Given the description of an element on the screen output the (x, y) to click on. 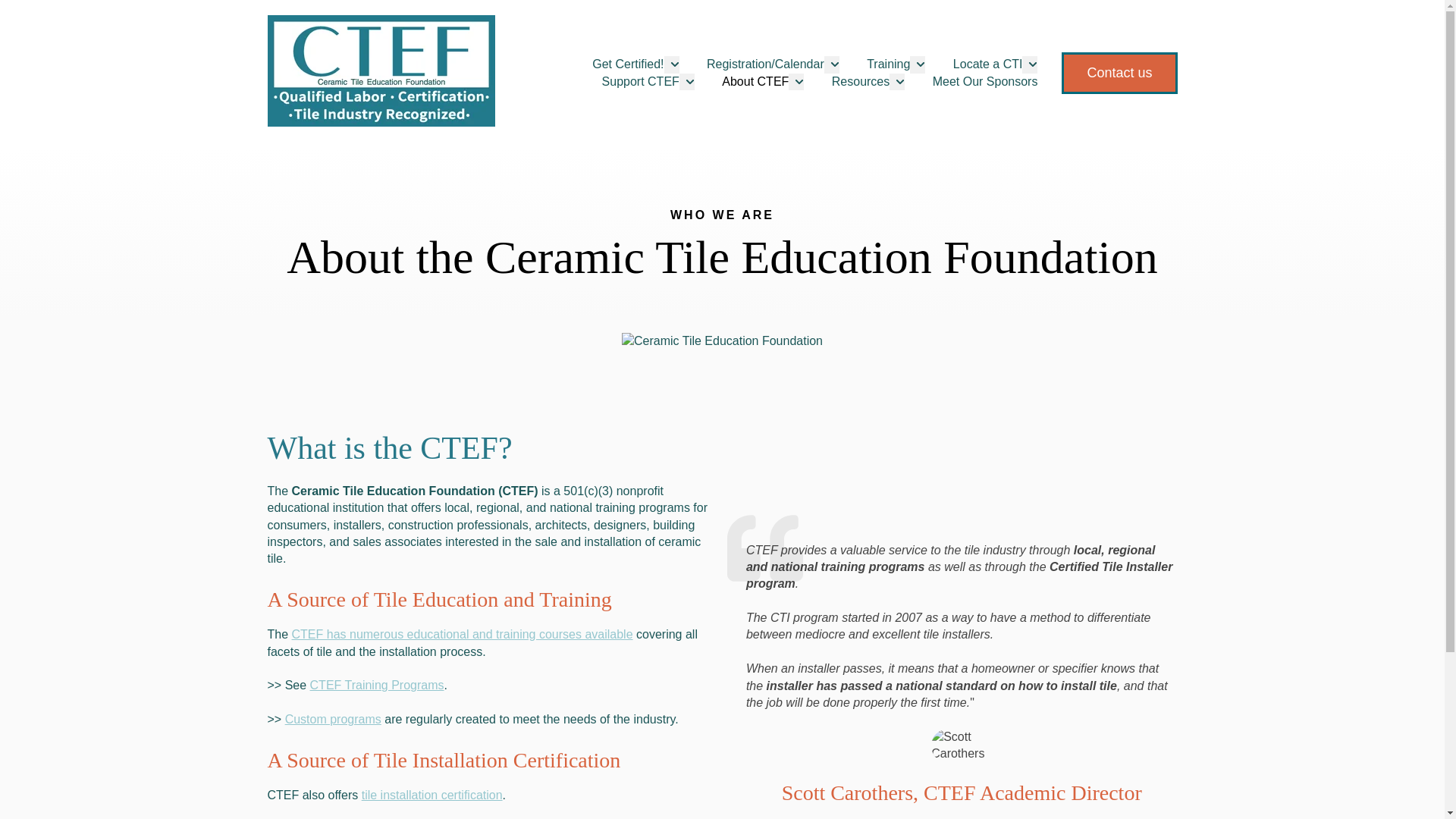
Show submenu for Training (917, 64)
Show submenu for Locate a CTI (1029, 64)
Get Certified! (627, 64)
Locate a CTI (988, 64)
Ceramic Tile Education Foundation (721, 340)
Show submenu for Support CTEF (686, 81)
Training (888, 64)
Show submenu for Get Certified! (671, 64)
Support CTEF (640, 81)
